Given the description of an element on the screen output the (x, y) to click on. 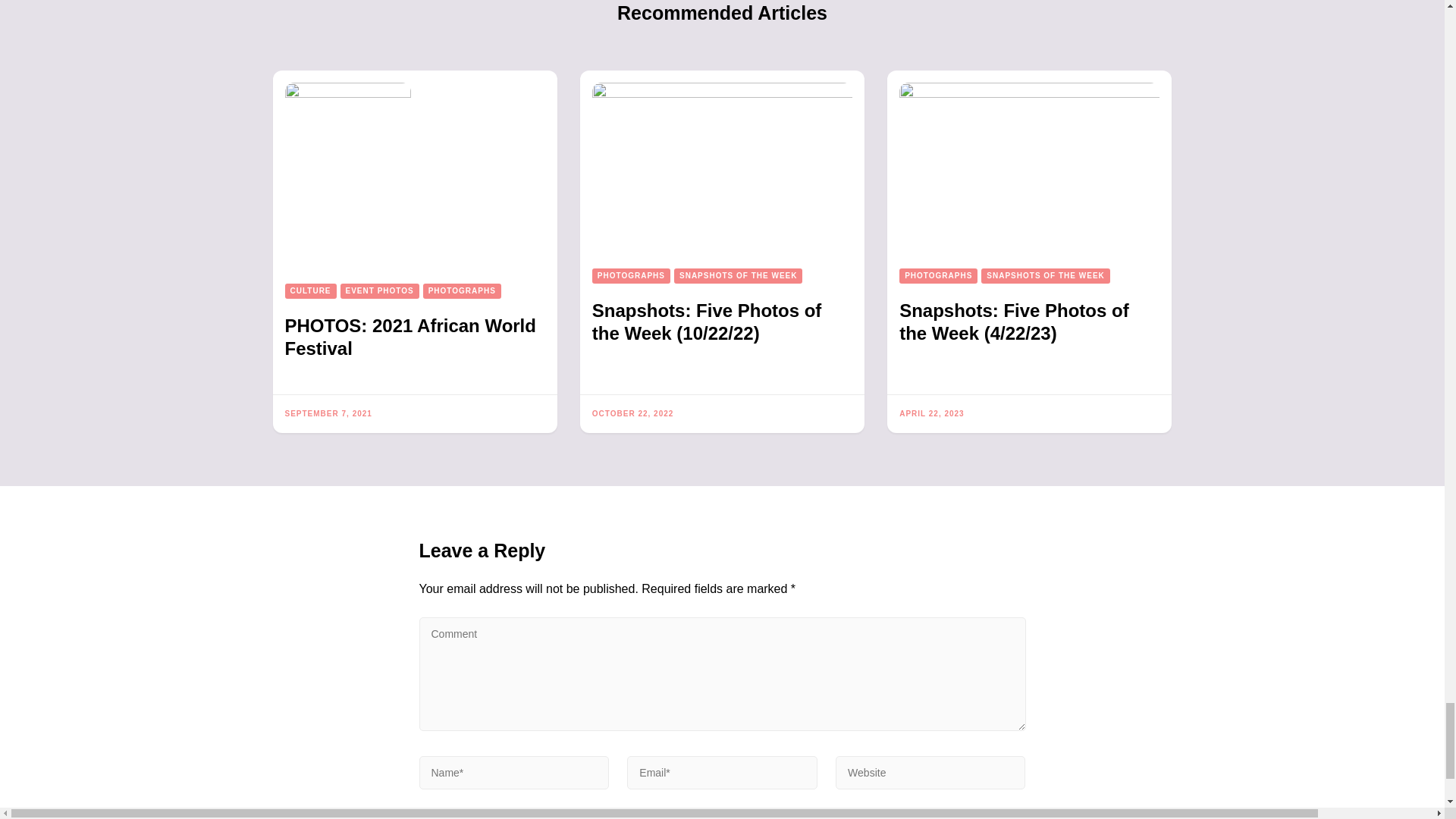
Post Comment (507, 813)
